Given the description of an element on the screen output the (x, y) to click on. 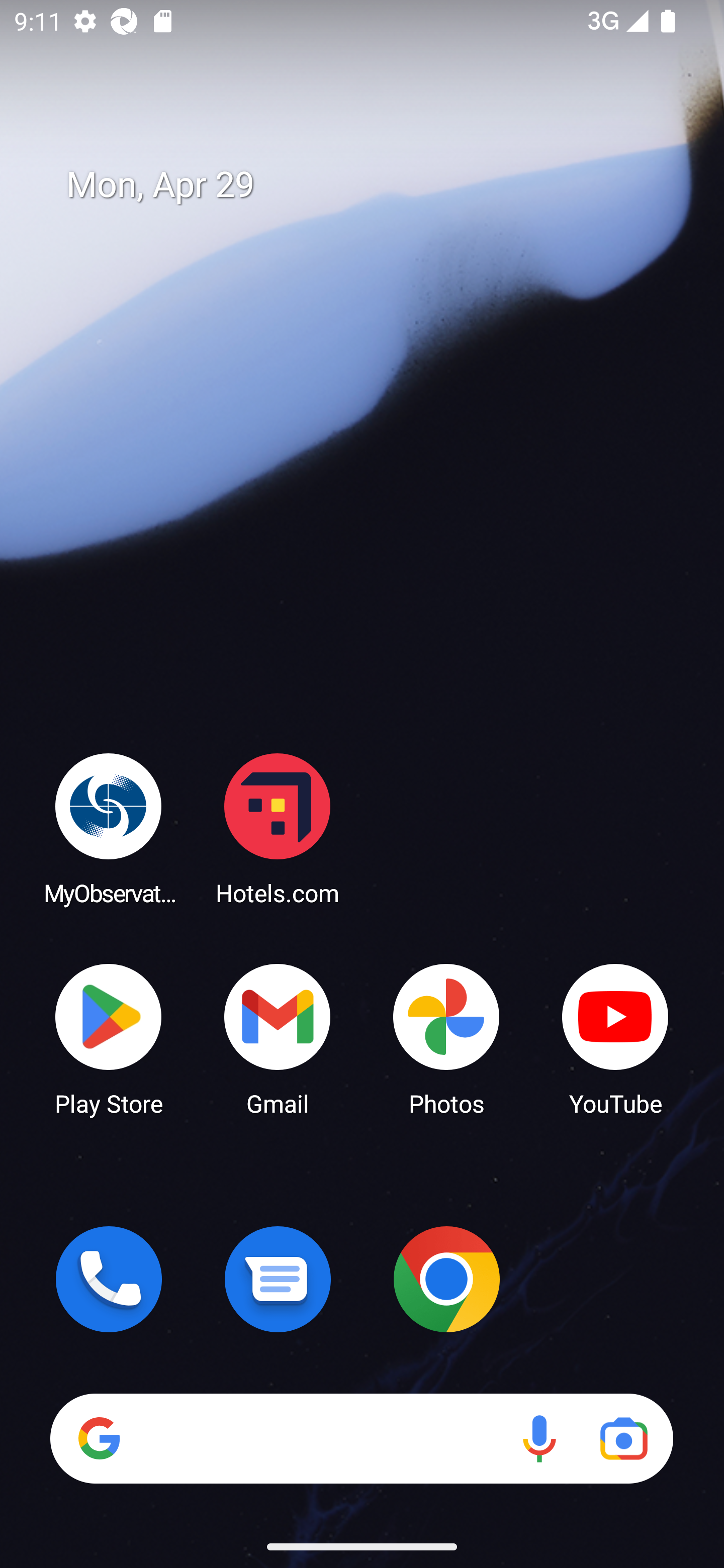
Mon, Apr 29 (375, 184)
MyObservatory (108, 828)
Hotels.com (277, 828)
Play Store (108, 1038)
Gmail (277, 1038)
Photos (445, 1038)
YouTube (615, 1038)
Phone (108, 1279)
Messages (277, 1279)
Chrome (446, 1279)
Search Voice search Google Lens (361, 1438)
Voice search (539, 1438)
Google Lens (623, 1438)
